Given the description of an element on the screen output the (x, y) to click on. 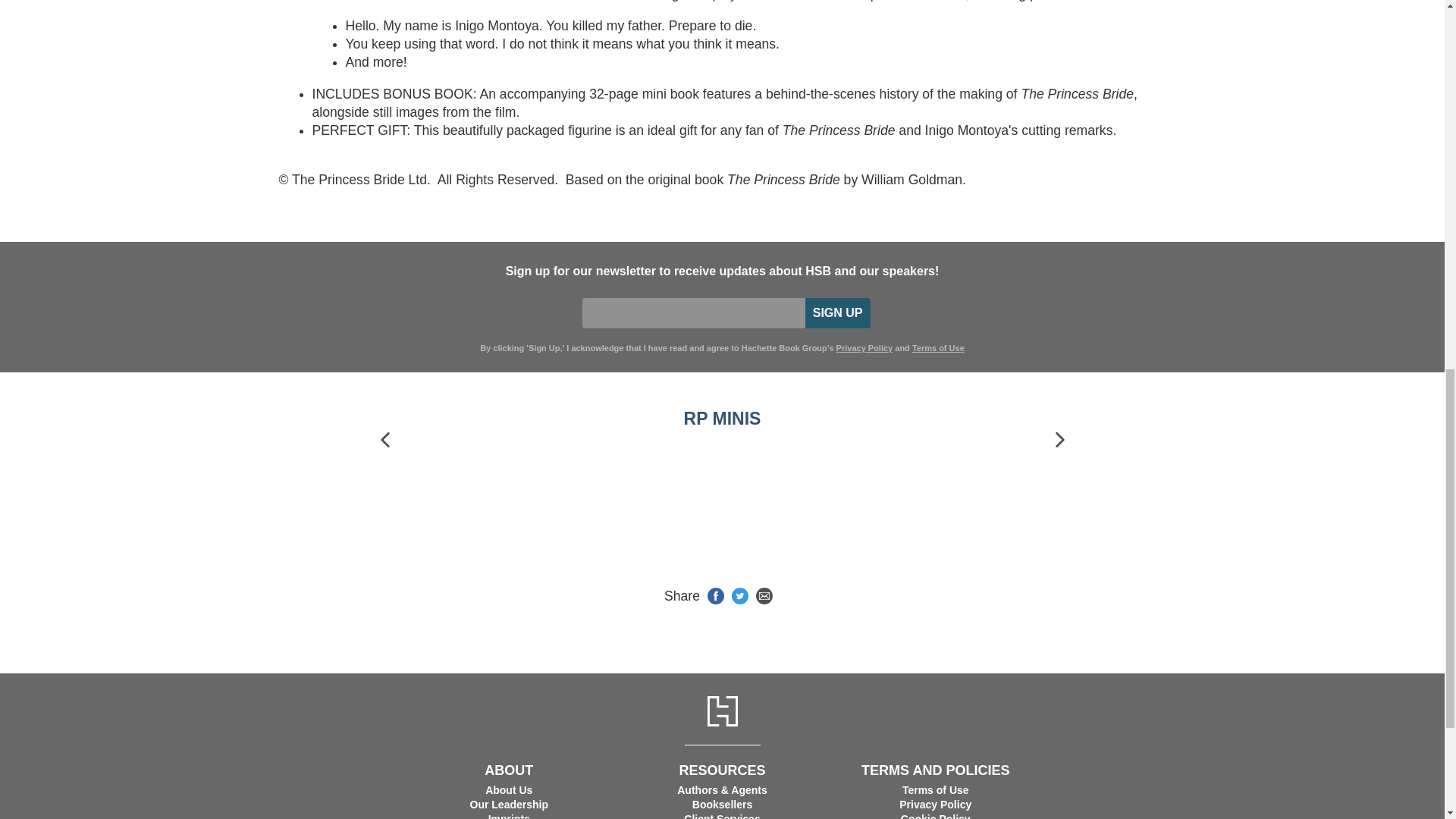
Hachette Logo Large H Initial (721, 711)
Arrow Icon (1058, 439)
Arrow Icon (384, 439)
